Given the description of an element on the screen output the (x, y) to click on. 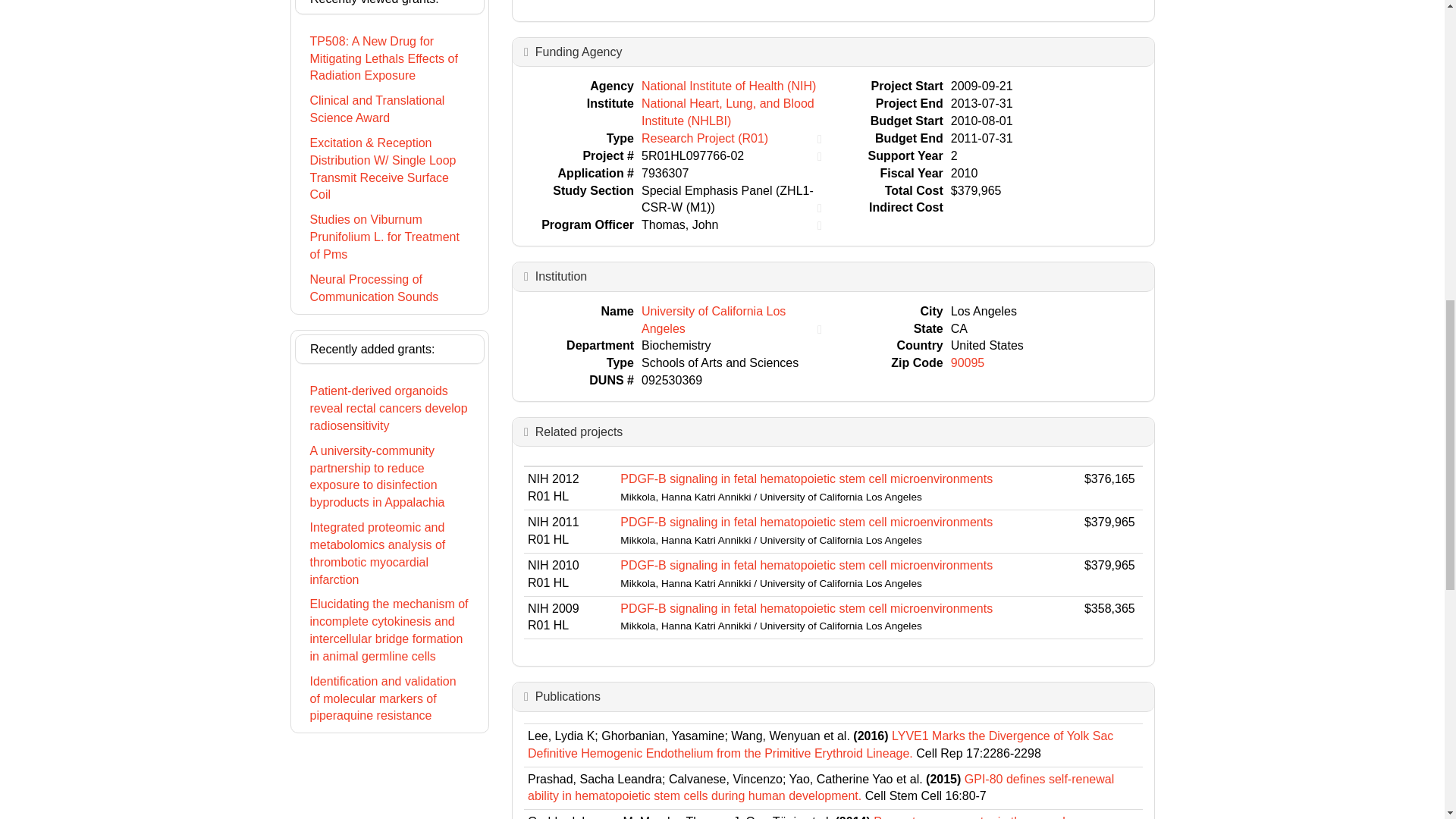
Neural Processing of Communication Sounds (389, 288)
Studies on Viburnum Prunifolium L. for Treatment of Pms (389, 237)
Funding Agency (579, 51)
Clinical and Translational Science Award (389, 109)
